Given the description of an element on the screen output the (x, y) to click on. 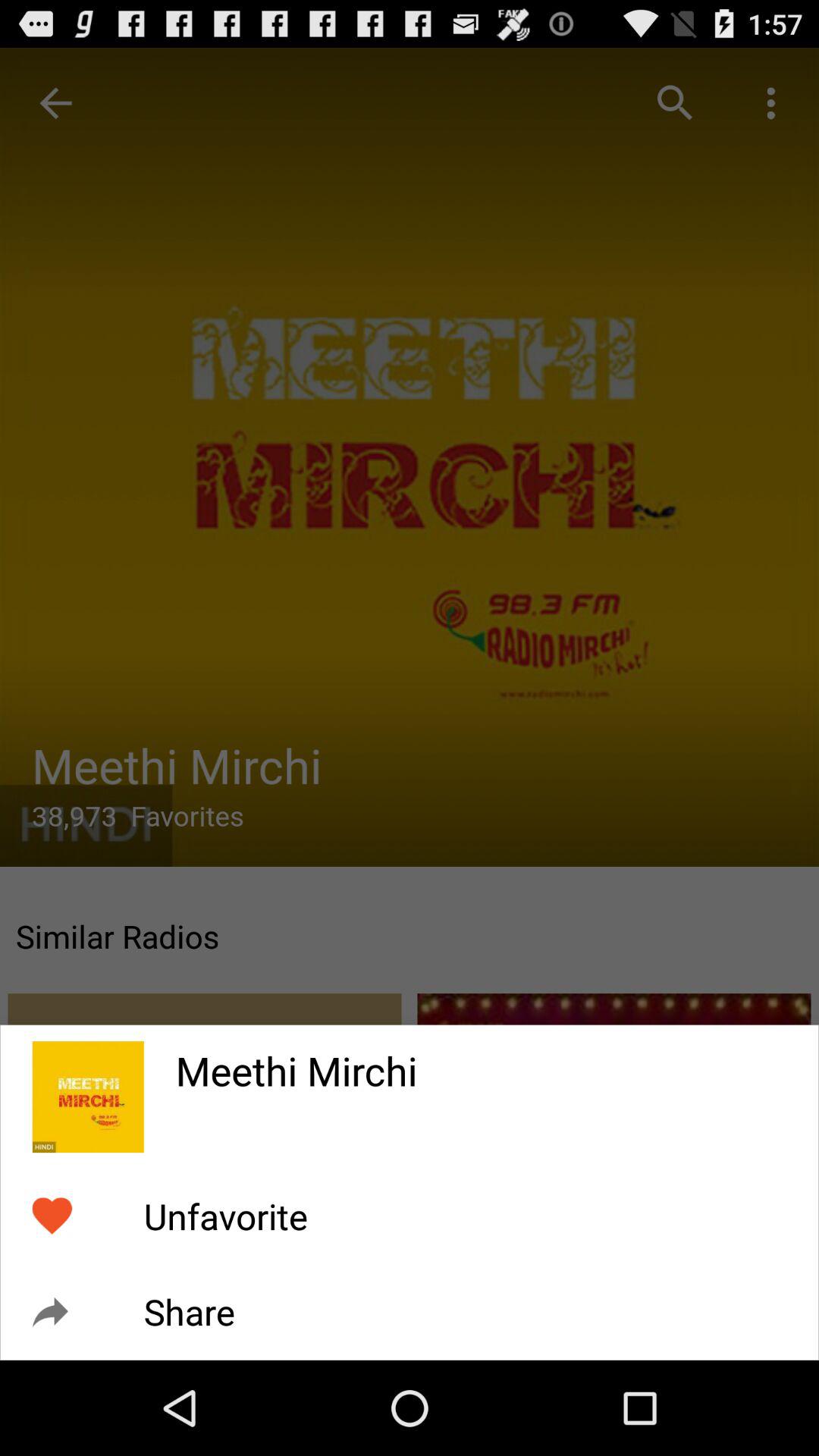
tap the icon above the unfavorite (480, 1061)
